Given the description of an element on the screen output the (x, y) to click on. 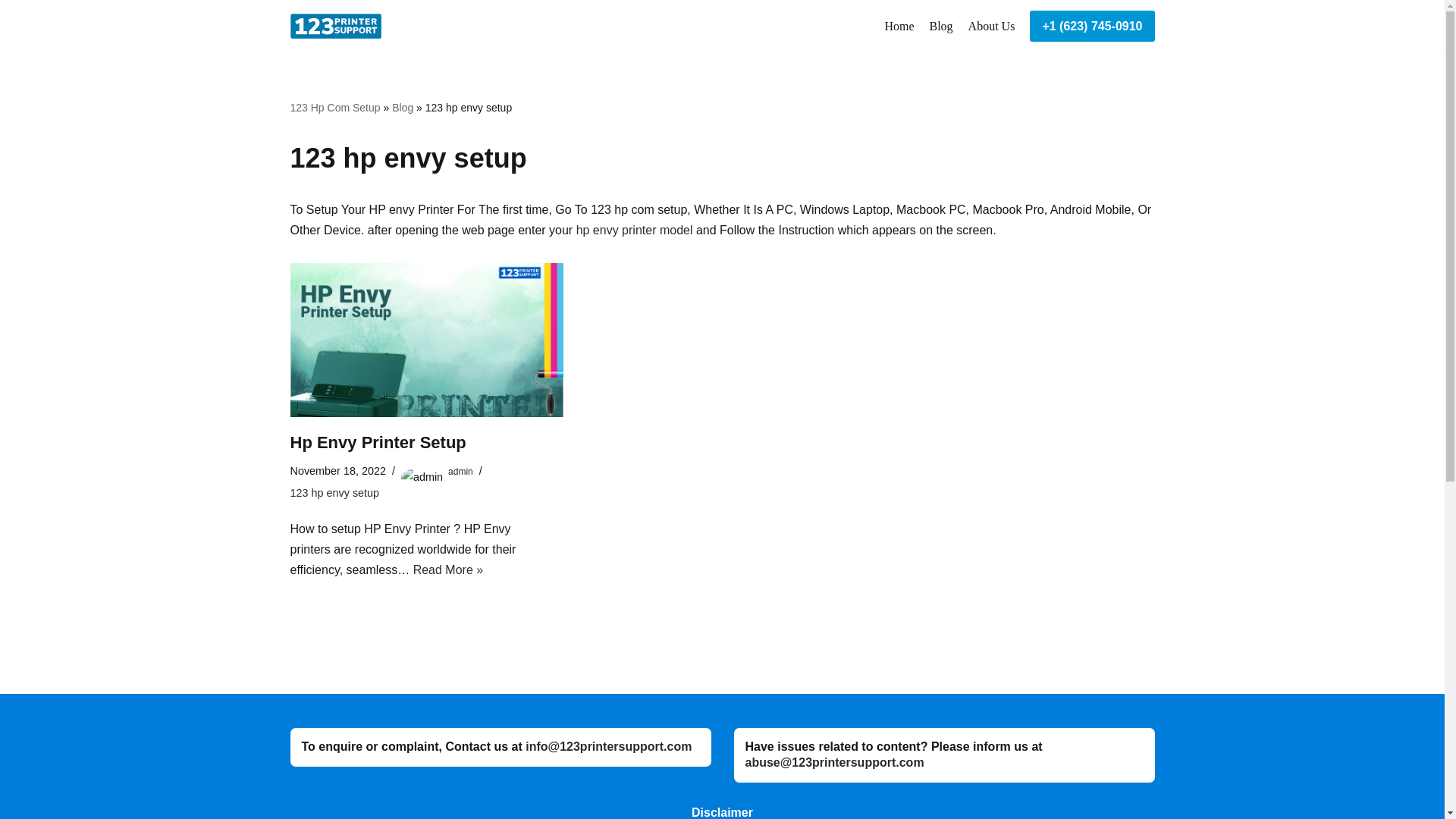
Home (898, 26)
123 hp envy setup (333, 492)
Hp Envy Printer Setup (425, 339)
hp envy printer model (634, 229)
About Us (991, 26)
Hp Envy Printer Setup (377, 442)
Posts by admin (460, 471)
Skip to content (11, 31)
Blog (402, 107)
Blog (940, 26)
admin (460, 471)
123 Hp Com Setup (334, 107)
Hp123printersupport (338, 25)
